Given the description of an element on the screen output the (x, y) to click on. 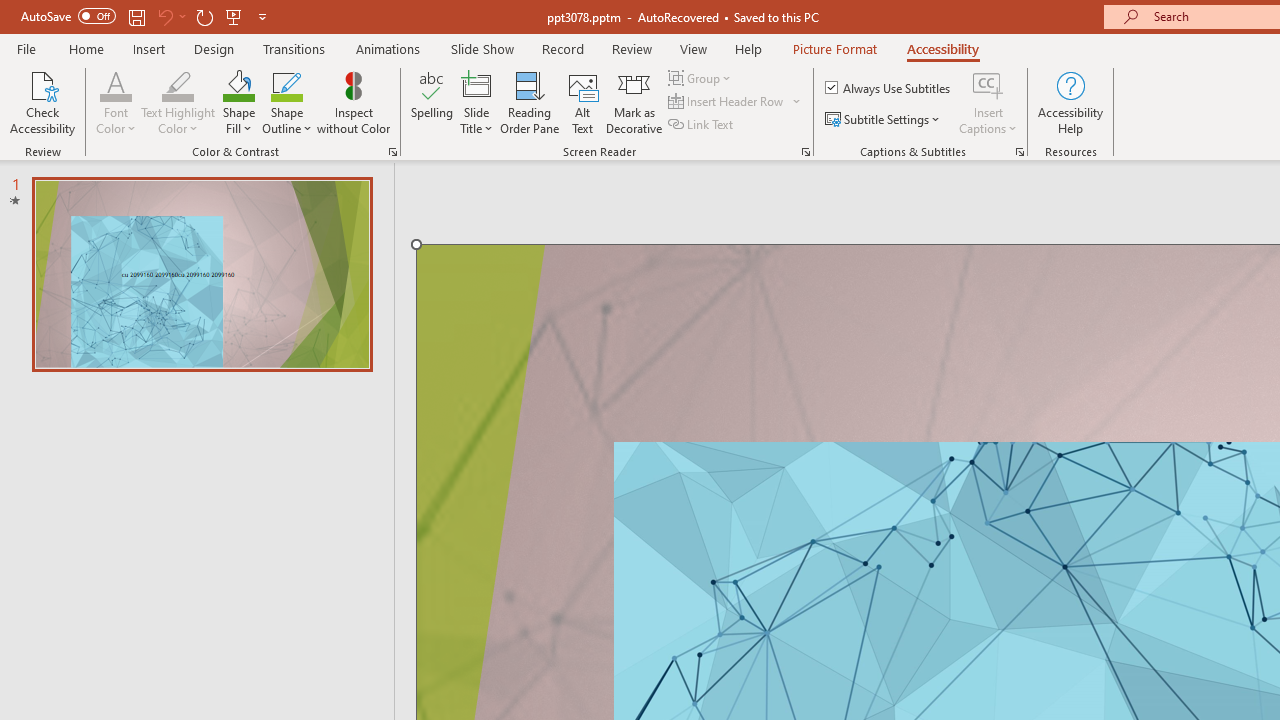
Spelling... (432, 102)
Captions & Subtitles (1019, 151)
Insert Captions (988, 102)
Inspect without Color (353, 102)
Shape Outline Green, Accent 1 (286, 84)
Link Text (702, 124)
